Given the description of an element on the screen output the (x, y) to click on. 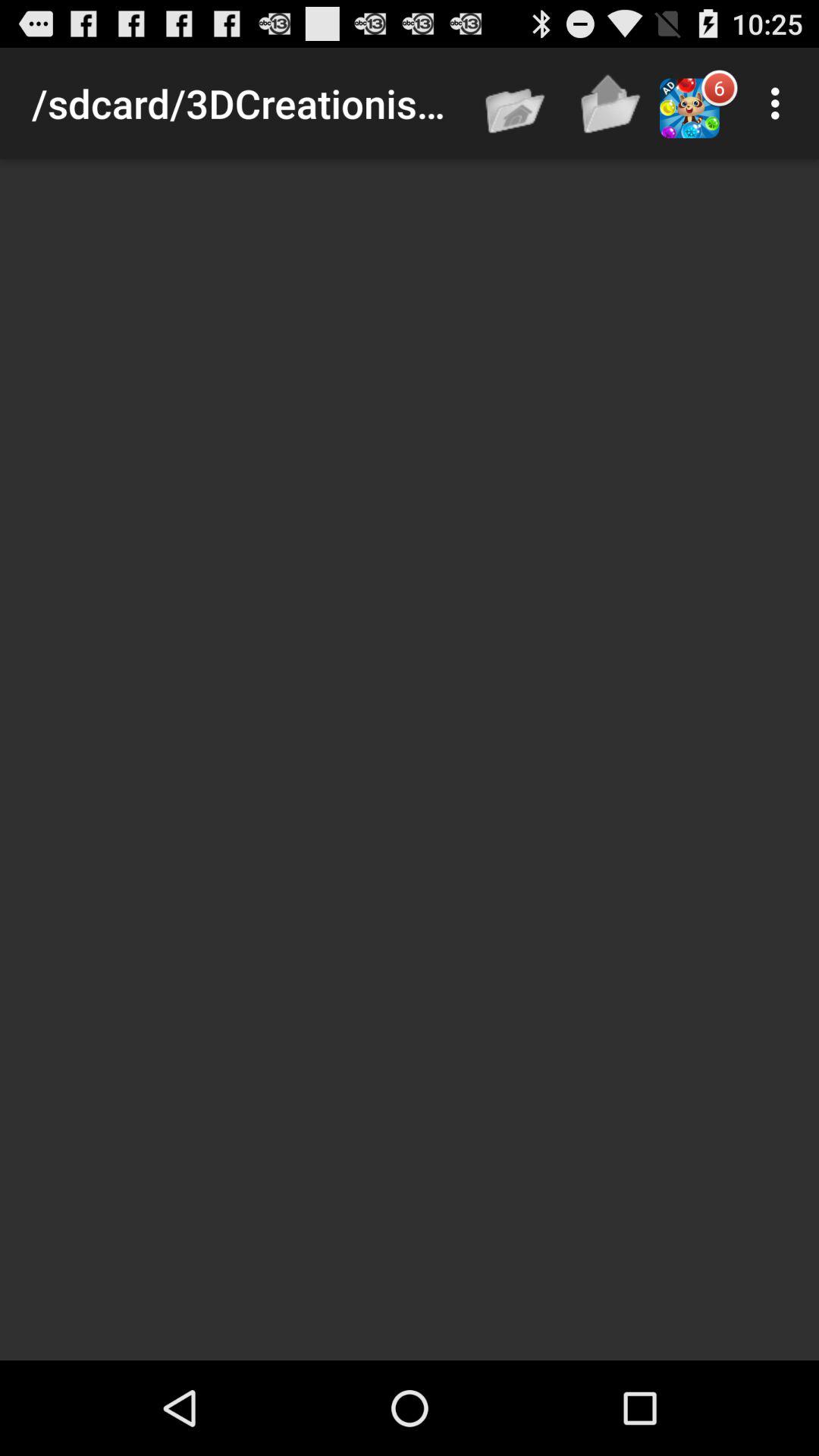
press icon next to 6 (779, 103)
